Given the description of an element on the screen output the (x, y) to click on. 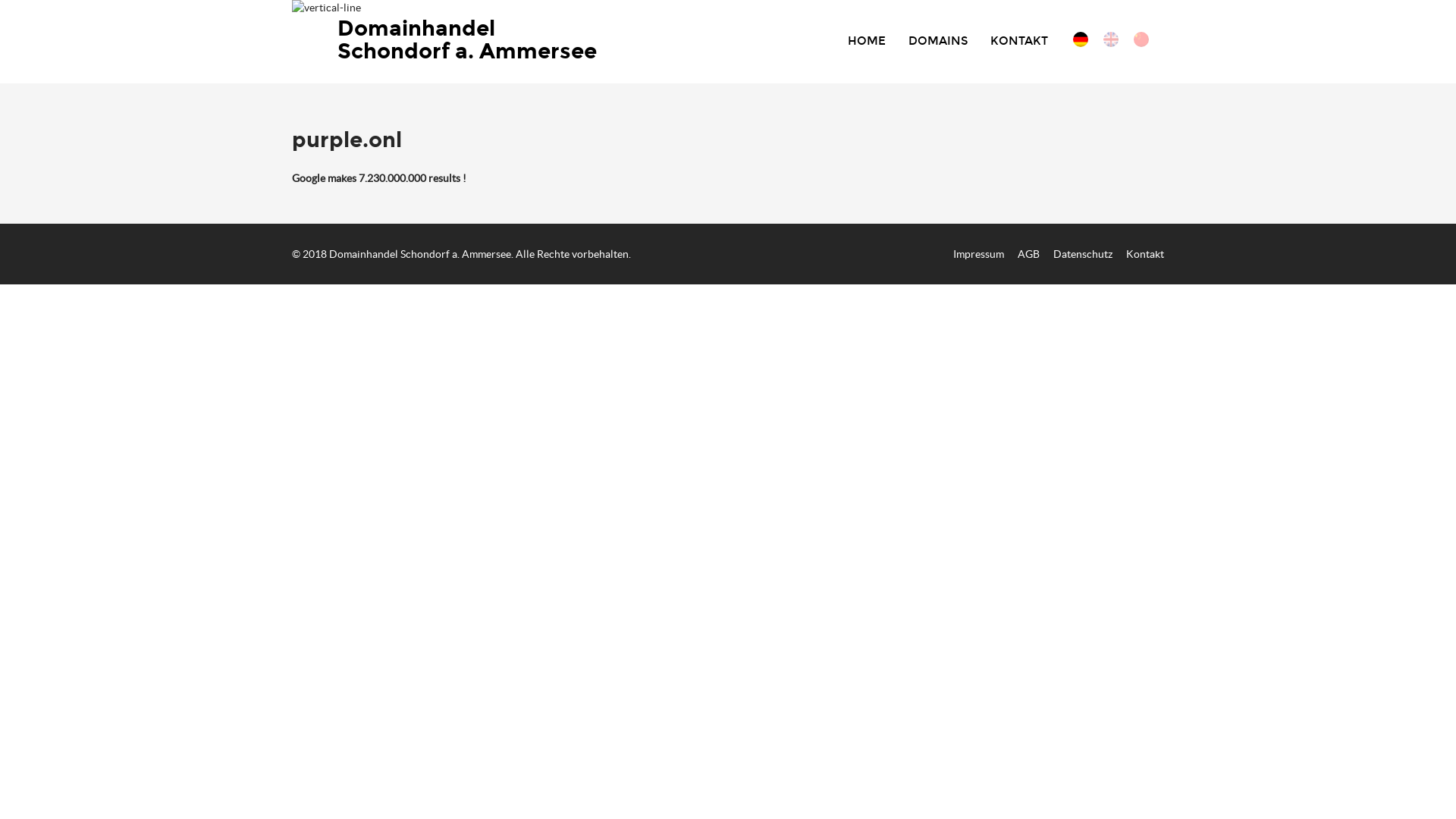
KONTAKT Element type: text (1019, 41)
line Element type: hover (325, 7)
AGB Element type: text (1028, 253)
Domainhandel
Schondorf a. Ammersee Element type: text (469, 39)
Impressum Element type: text (978, 253)
HOME Element type: text (866, 41)
DOMAINS Element type: text (937, 41)
Kontakt Element type: text (1145, 253)
Datenschutz Element type: text (1082, 253)
